Given the description of an element on the screen output the (x, y) to click on. 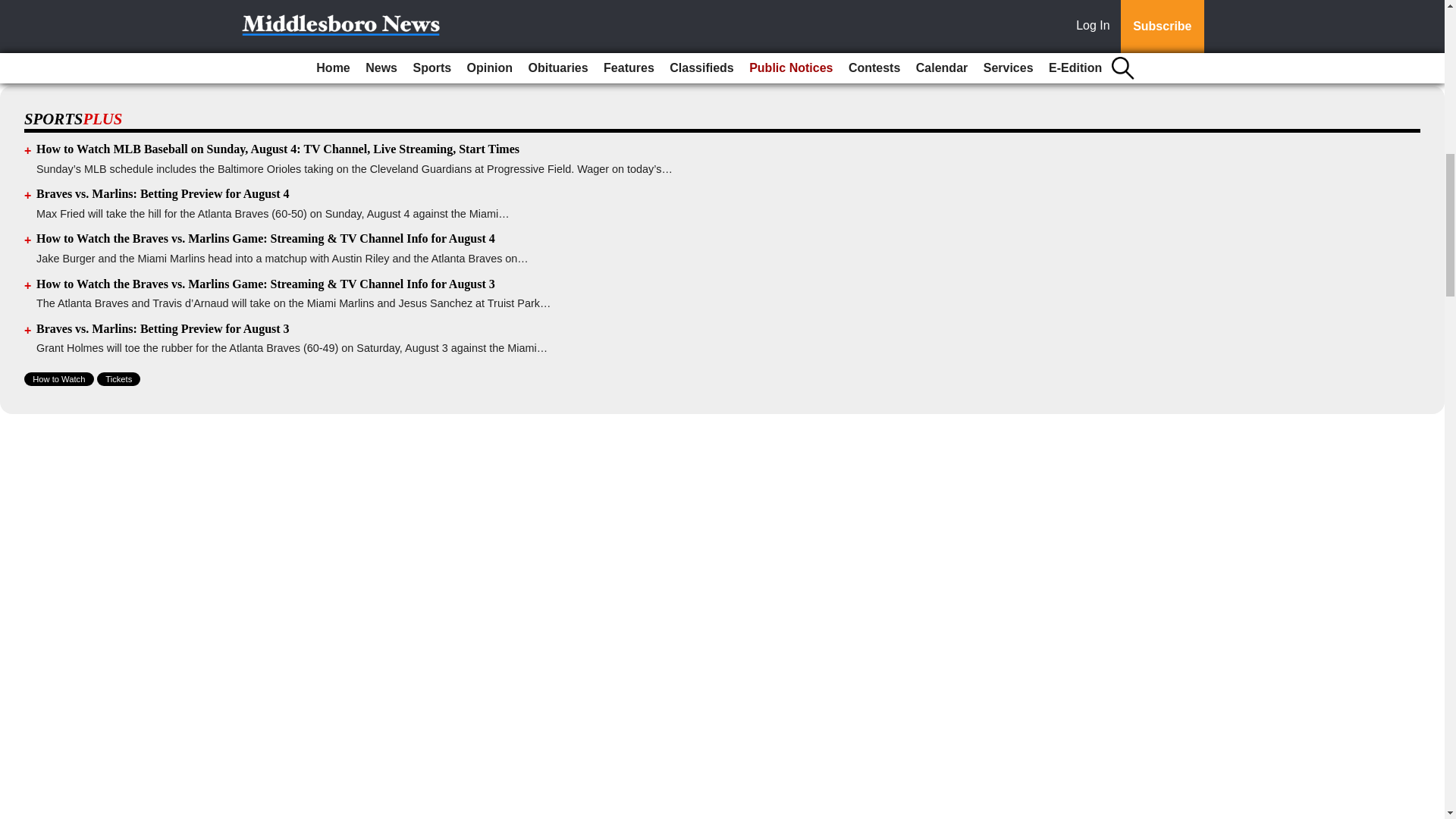
Tickets (118, 378)
How to Watch (59, 378)
